Given the description of an element on the screen output the (x, y) to click on. 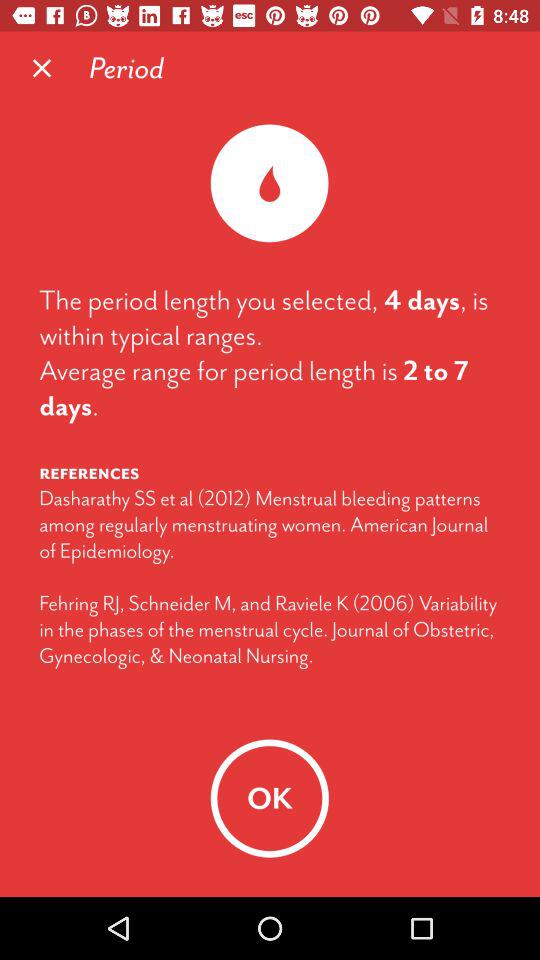
press ok (269, 798)
